Given the description of an element on the screen output the (x, y) to click on. 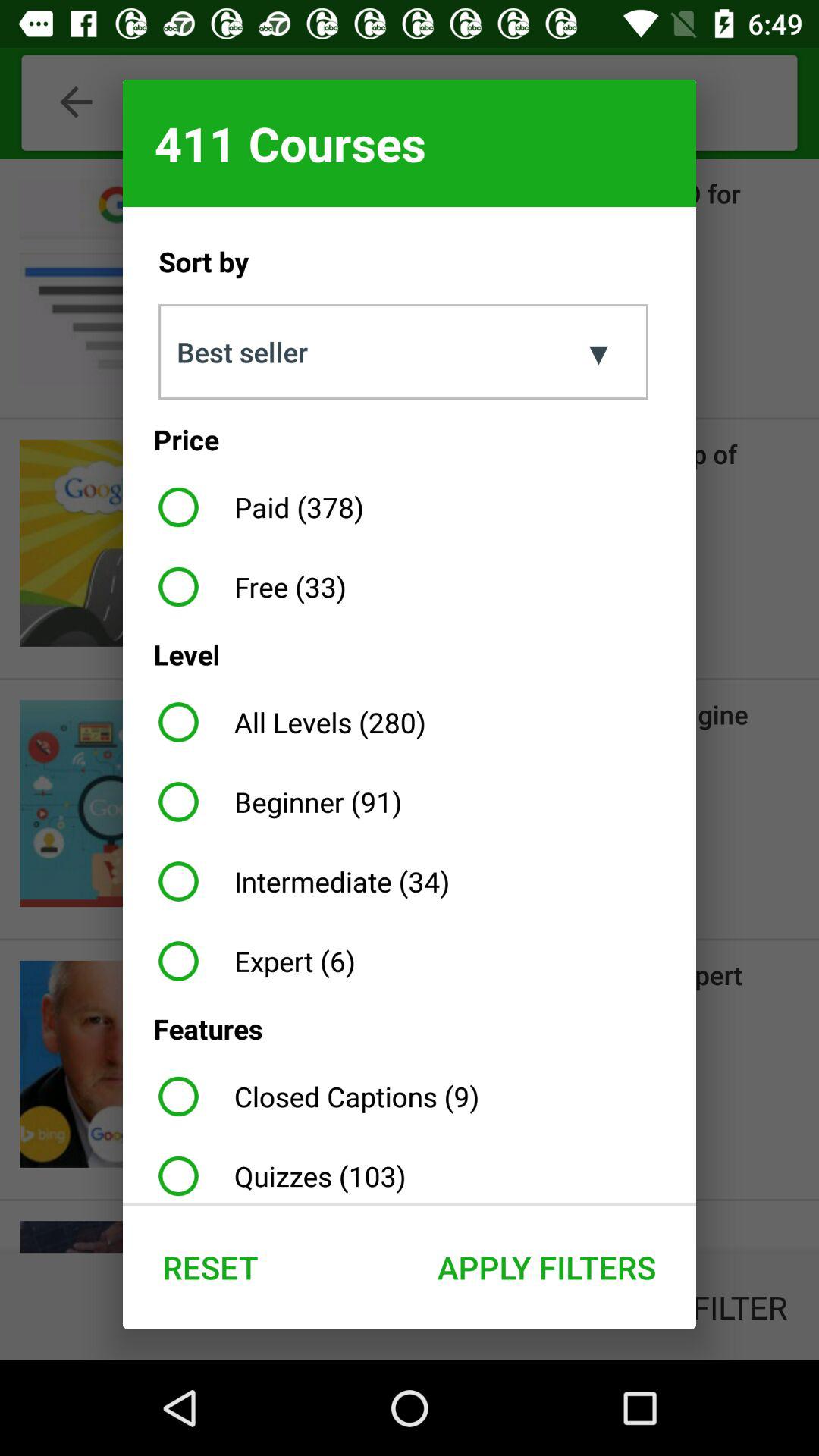
press the app below the features item (312, 1096)
